Given the description of an element on the screen output the (x, y) to click on. 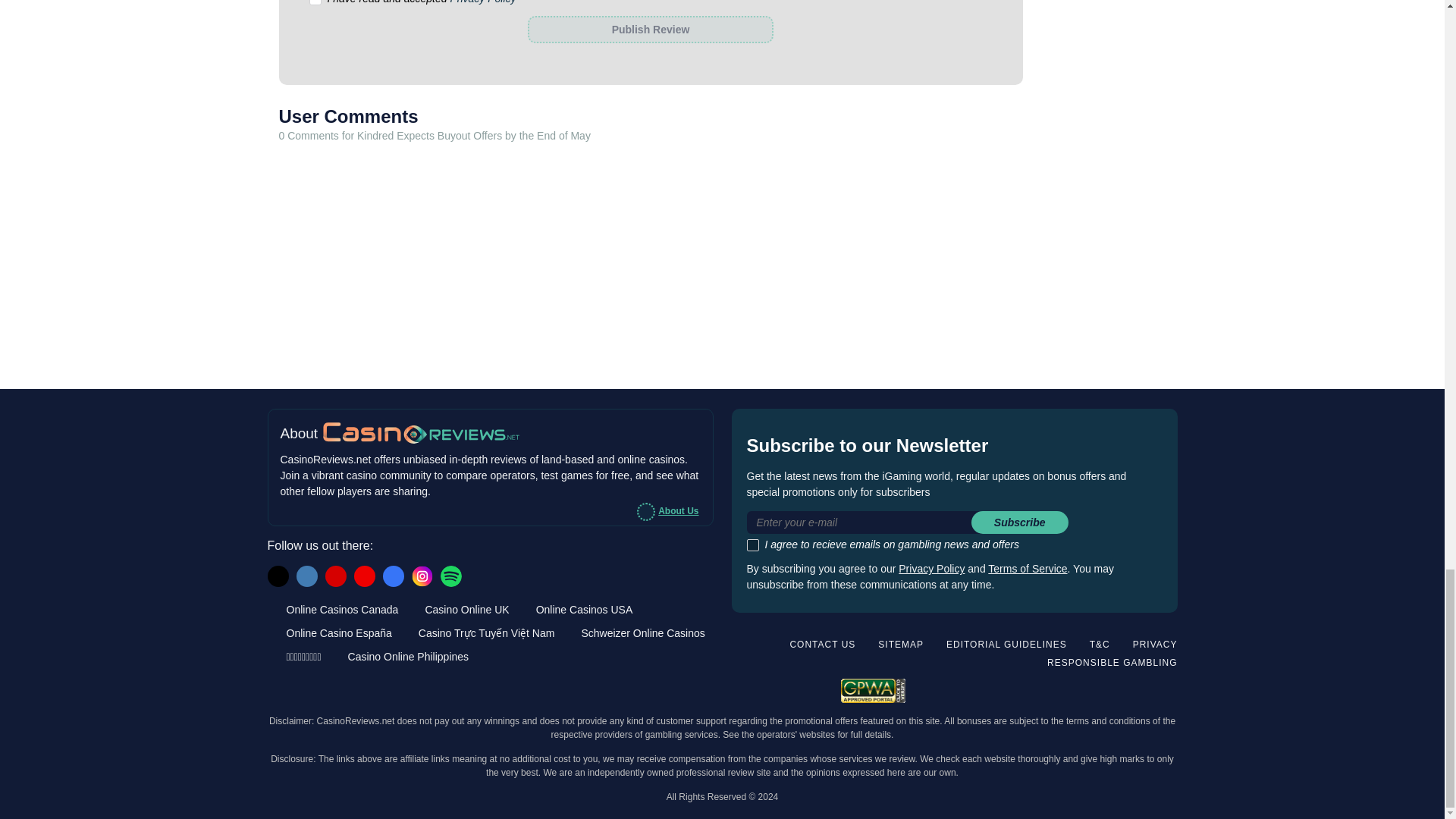
DMCA.com Protection Status (1126, 688)
Publish Review (650, 29)
Subscribe (1019, 522)
